Given the description of an element on the screen output the (x, y) to click on. 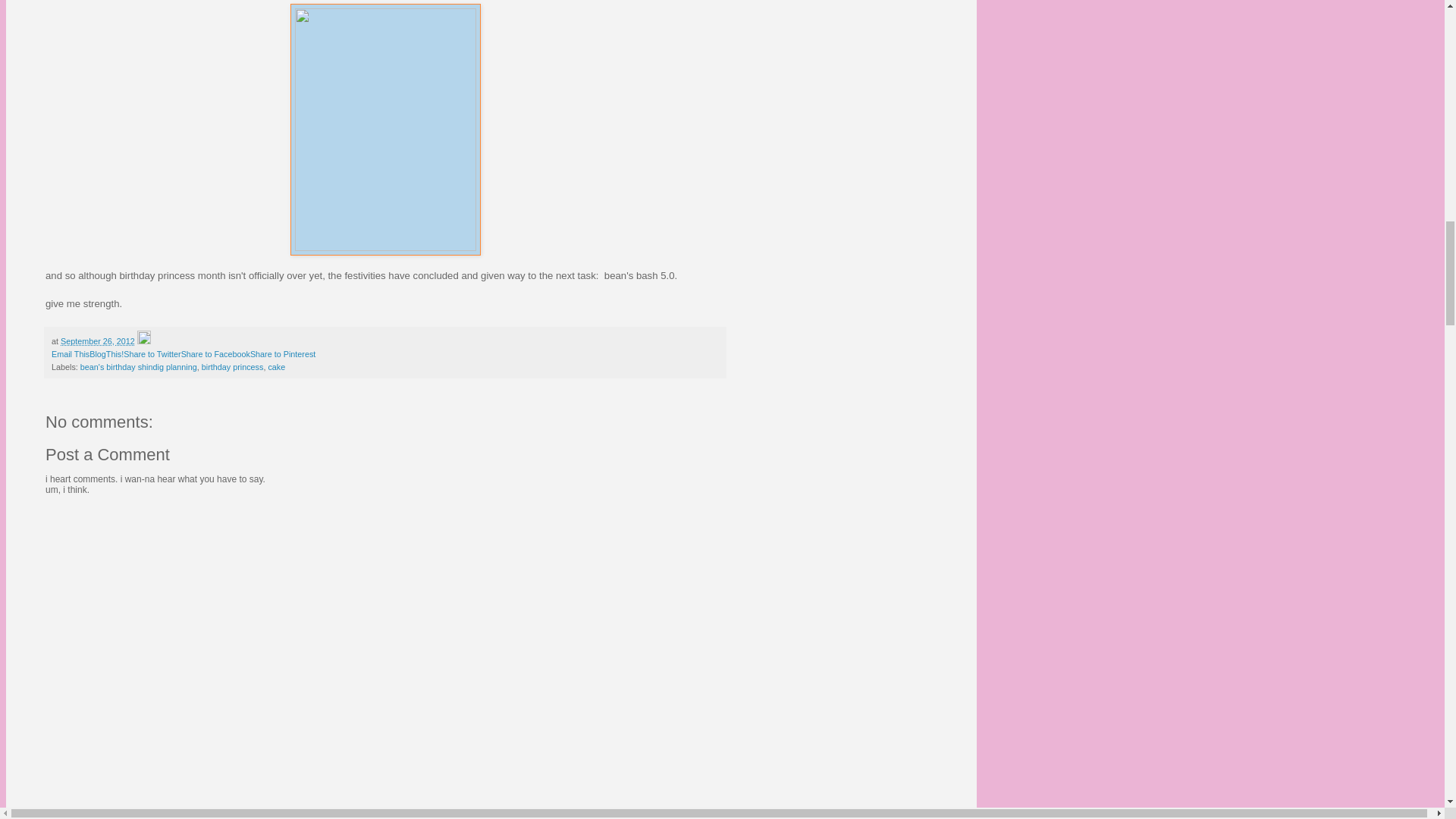
birthday princess (232, 366)
Share to Twitter (151, 353)
Share to Twitter (151, 353)
Share to Pinterest (282, 353)
Edit Post (143, 340)
Share to Facebook (215, 353)
bean's birthday shindig planning (138, 366)
permanent link (98, 340)
BlogThis! (105, 353)
Email This (69, 353)
Email This (69, 353)
Share to Pinterest (282, 353)
Share to Facebook (215, 353)
September 26, 2012 (98, 340)
BlogThis! (105, 353)
